Given the description of an element on the screen output the (x, y) to click on. 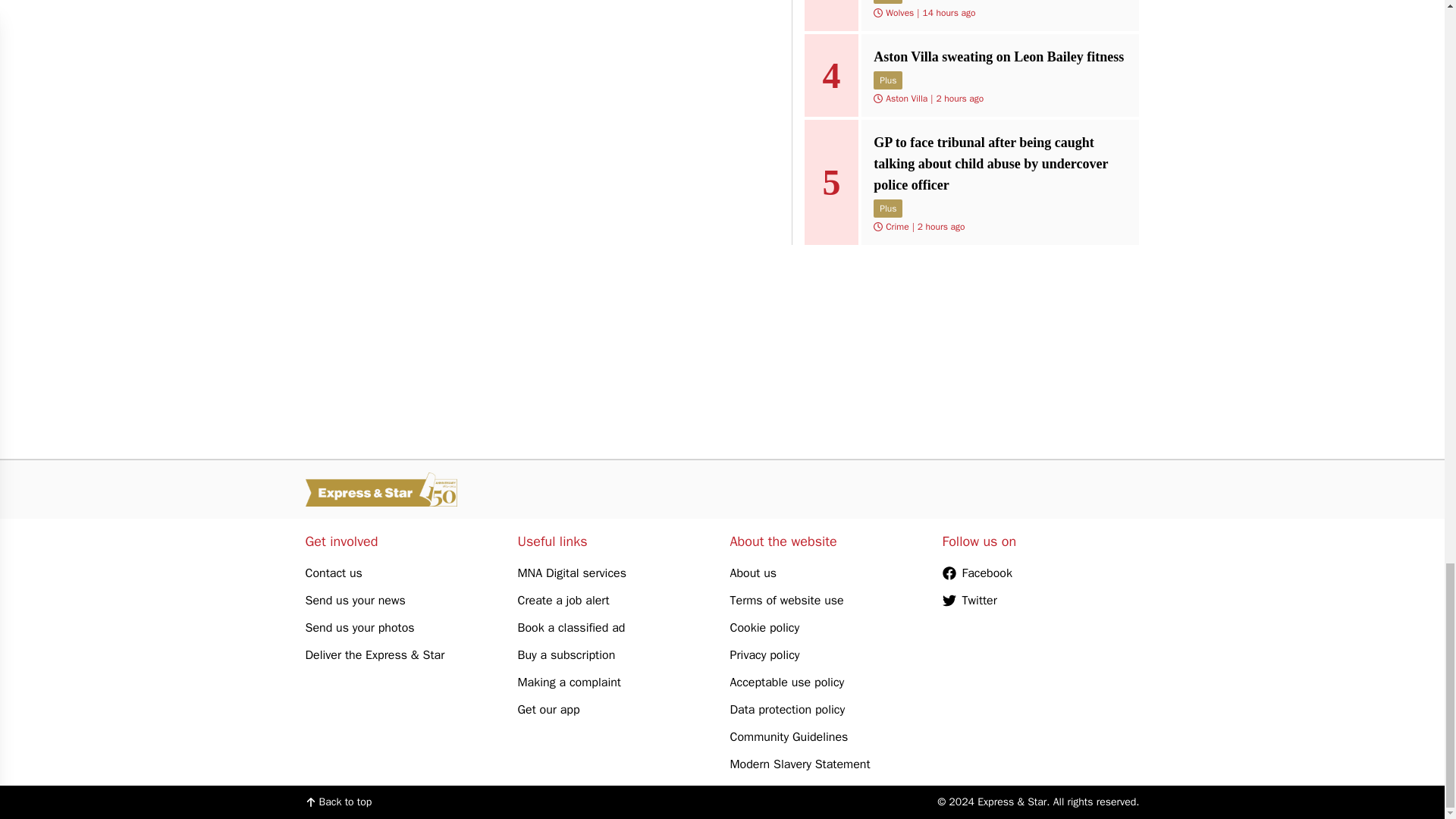
Wolves (899, 12)
Crime (896, 226)
Aston Villa (906, 98)
